Given the description of an element on the screen output the (x, y) to click on. 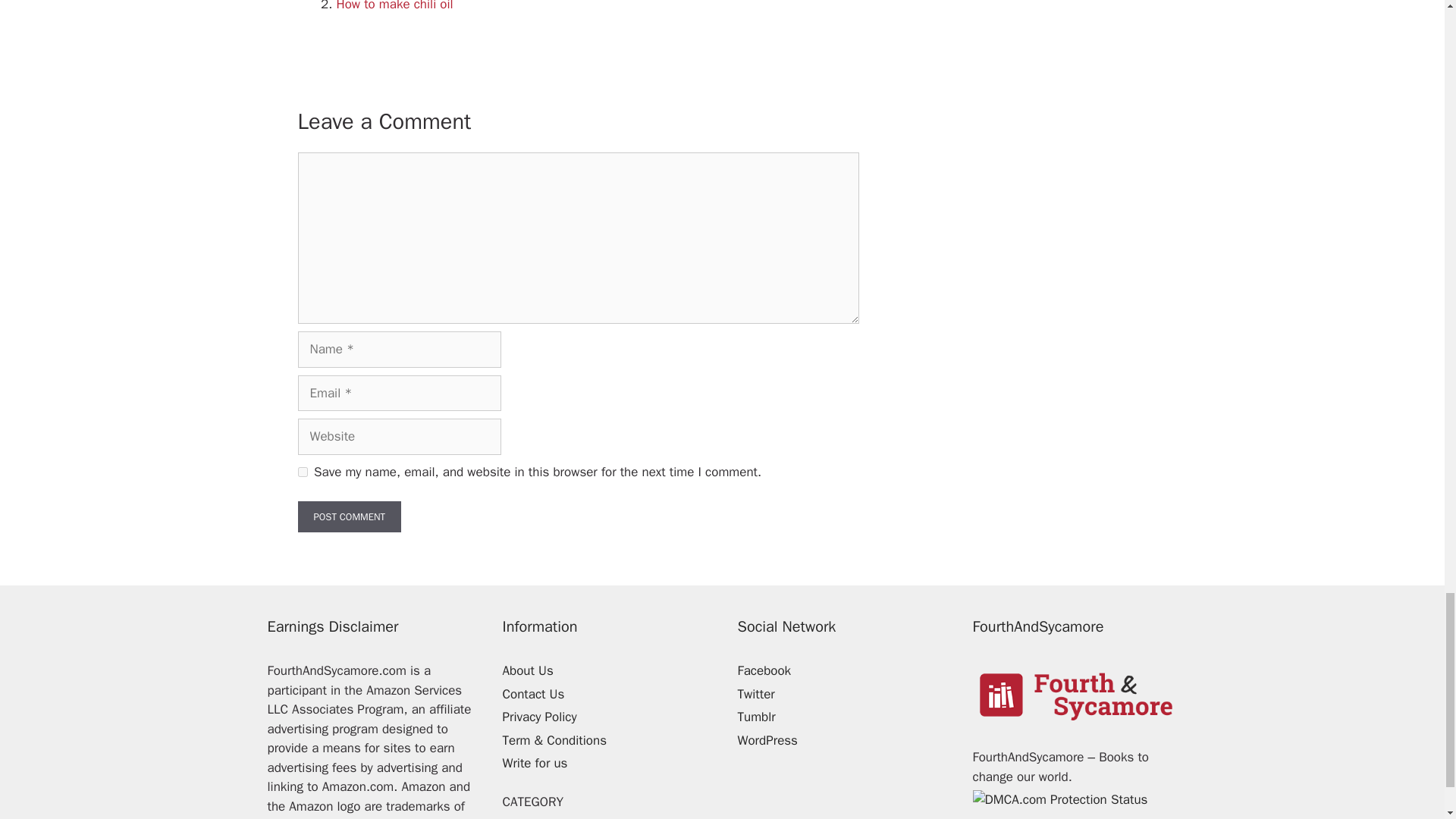
About Us (527, 670)
Post Comment (349, 517)
Privacy Policy (539, 716)
How to make chili oil (394, 6)
Post Comment (349, 517)
DMCA.com Protection Status (1059, 799)
yes (302, 471)
Contact Us (533, 693)
